Given the description of an element on the screen output the (x, y) to click on. 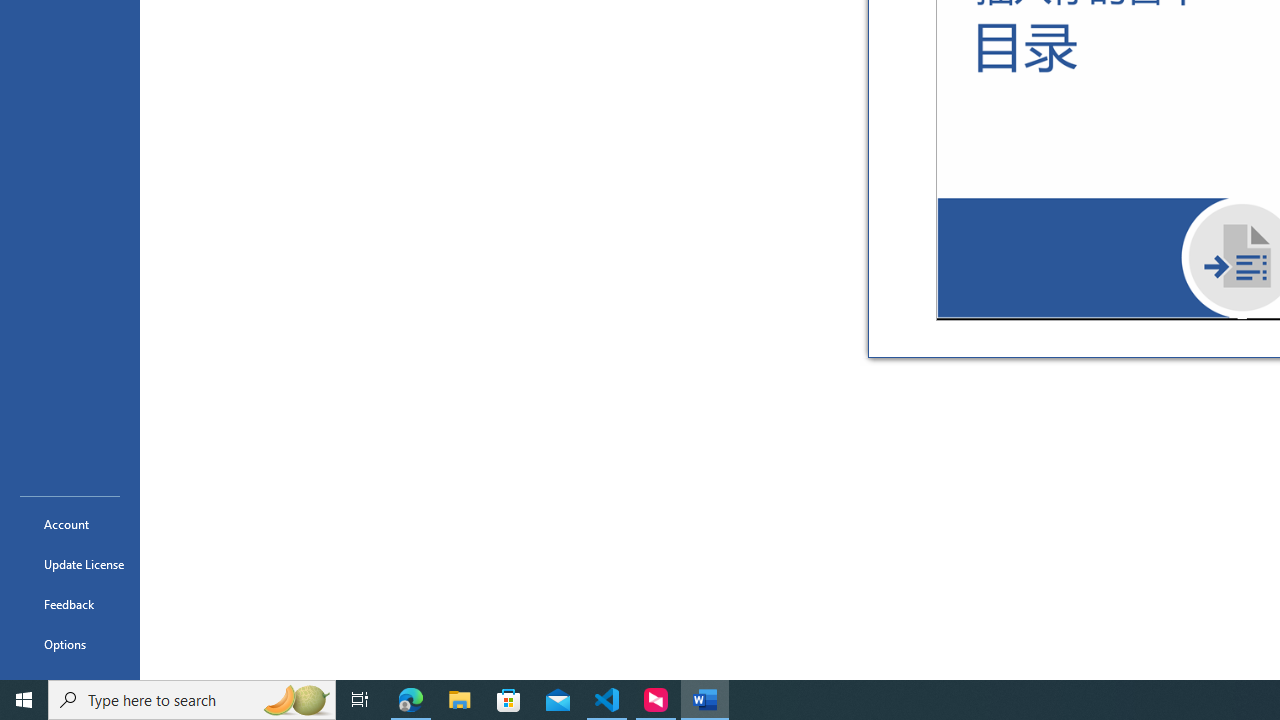
Task View (359, 699)
File Explorer (460, 699)
Options (69, 643)
Microsoft Store (509, 699)
Search highlights icon opens search home window (295, 699)
Start (24, 699)
Feedback (69, 603)
Visual Studio Code - 1 running window (607, 699)
Microsoft Edge - 1 running window (411, 699)
Type here to search (191, 699)
Word - 1 running window (704, 699)
Update License (69, 563)
Account (69, 523)
